Given the description of an element on the screen output the (x, y) to click on. 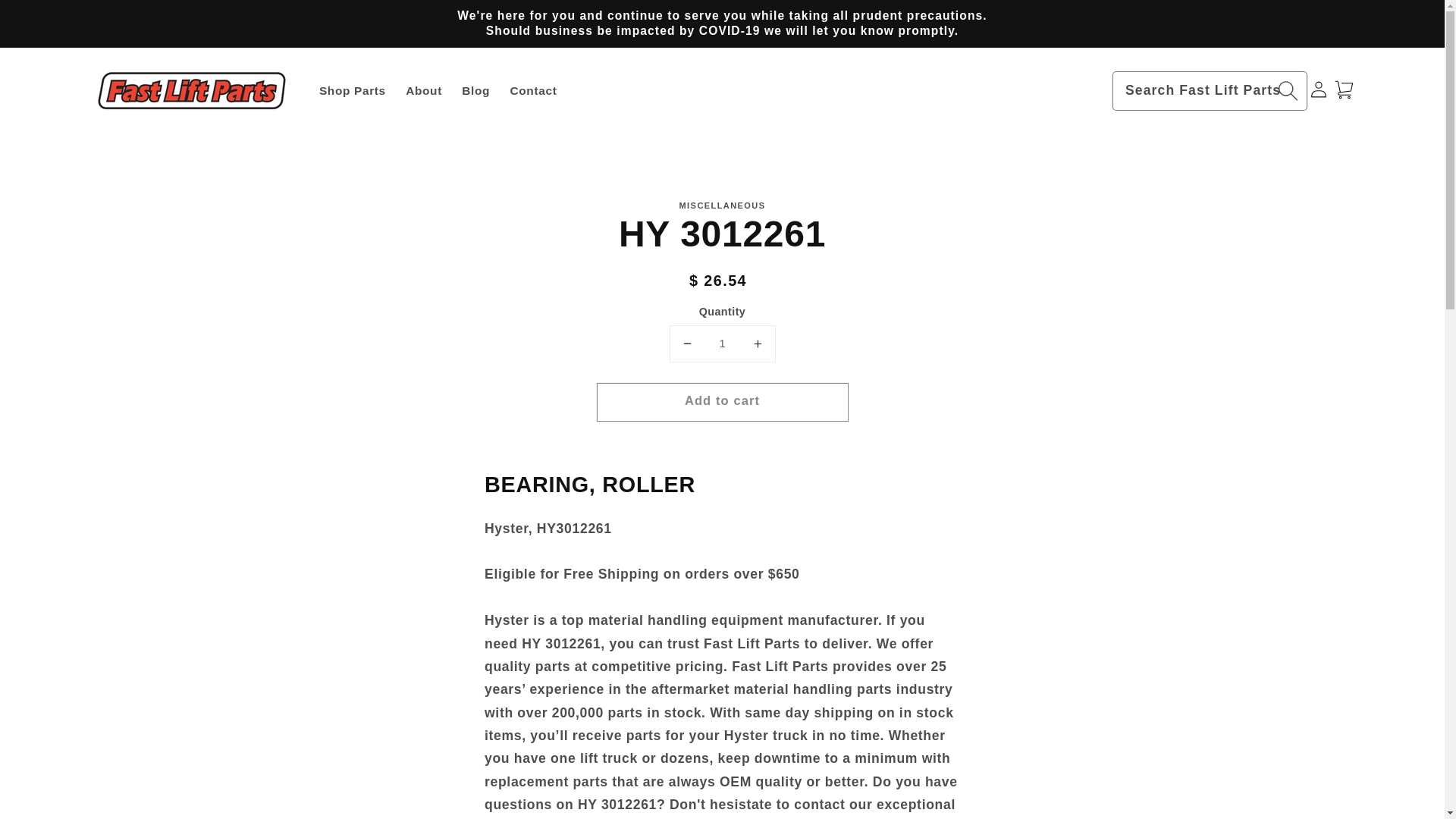
Skip to content (49, 18)
Increase quantity for HY 3012261 (756, 343)
About (423, 90)
Decrease quantity for HY 3012261 (686, 343)
Shop Parts (352, 90)
Cart (1344, 89)
Add to cart (721, 402)
Contact (532, 90)
Blog (475, 90)
Log in (1318, 89)
